Given the description of an element on the screen output the (x, y) to click on. 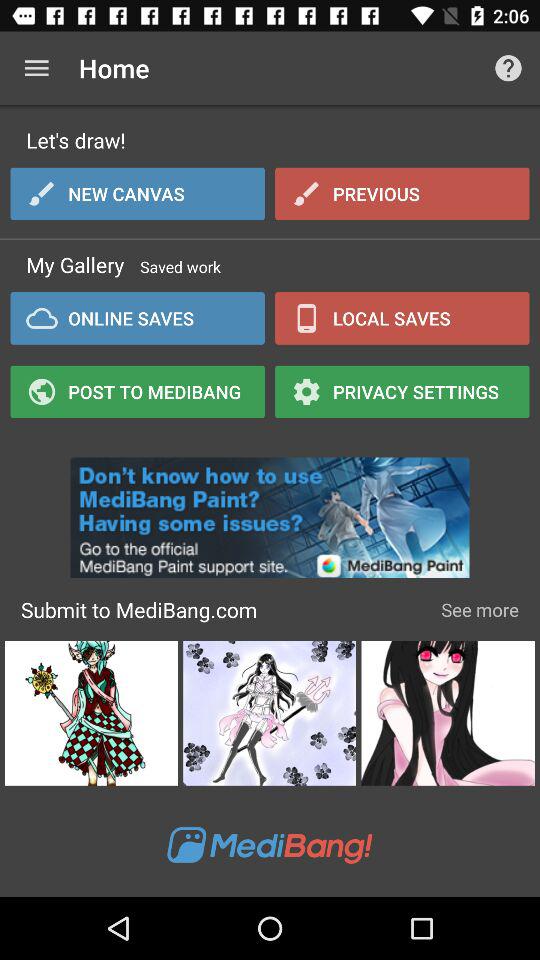
launch the icon next to local saves (137, 318)
